Given the description of an element on the screen output the (x, y) to click on. 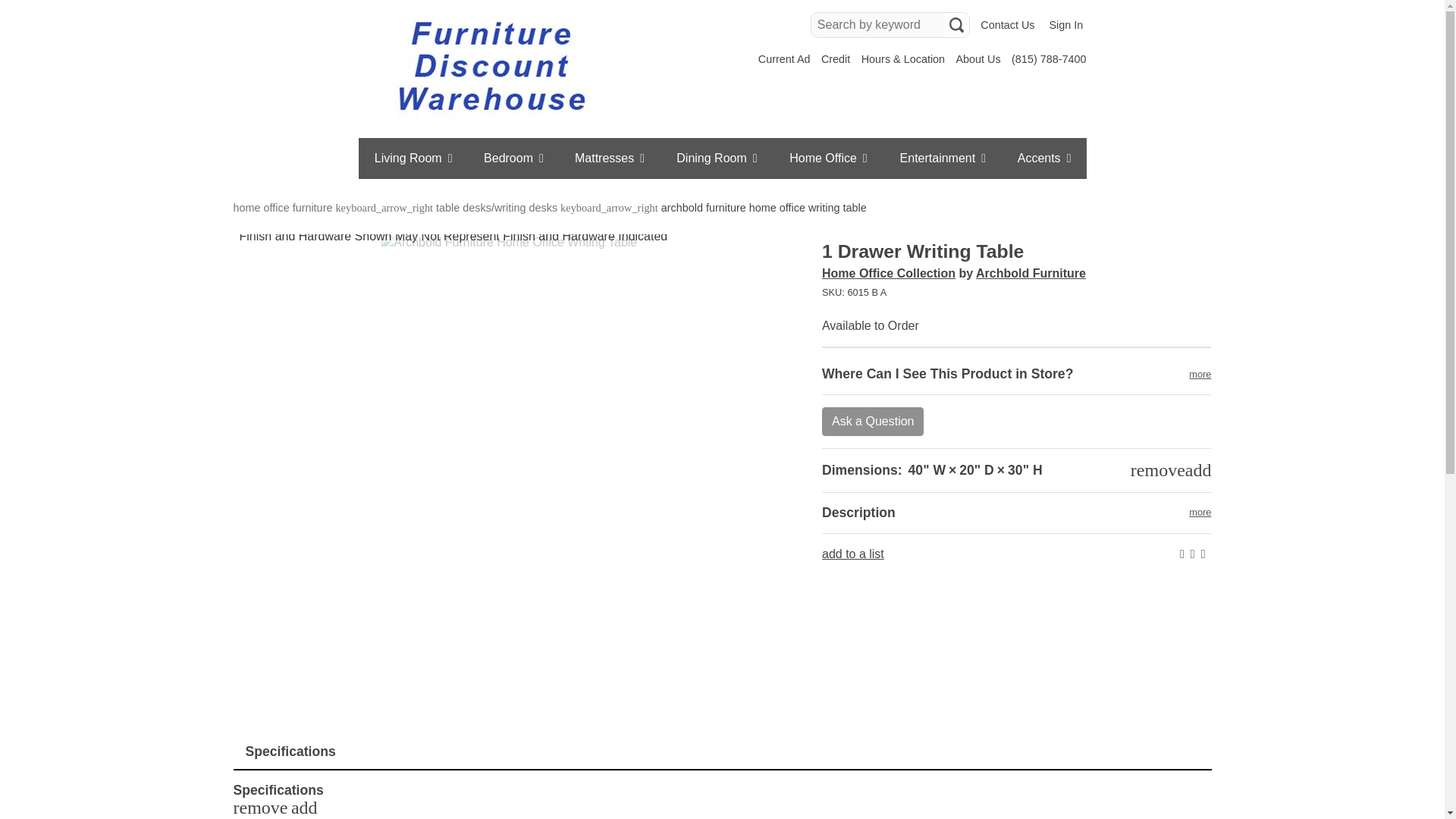
6015 B A (1016, 292)
Credit (835, 59)
Living Room (412, 158)
Sign In (1065, 25)
Current Ad (784, 59)
Bedroom (513, 158)
About Us (977, 59)
Contact Us (1007, 25)
